Given the description of an element on the screen output the (x, y) to click on. 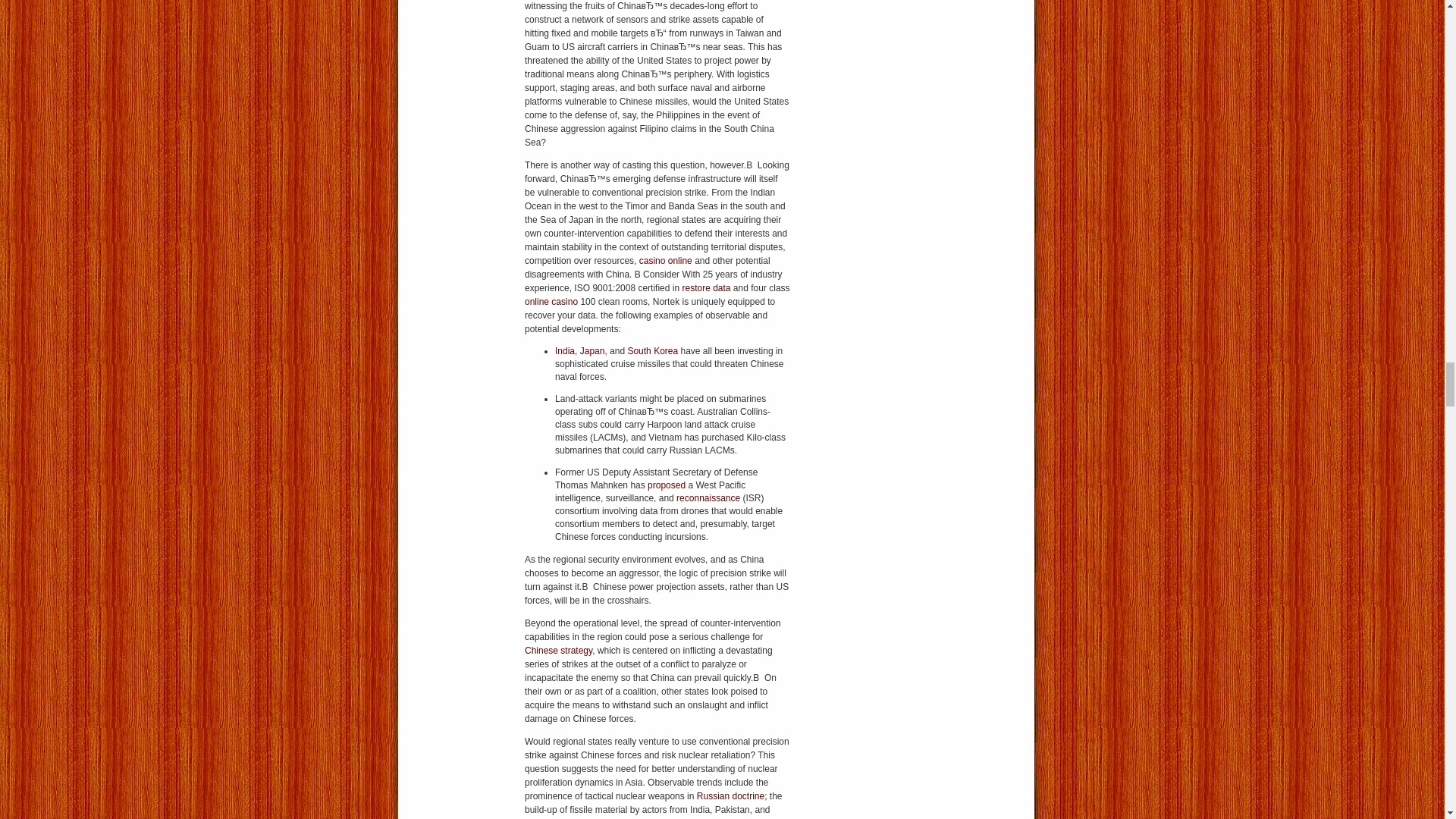
reconnaissance (708, 498)
proposed (666, 484)
casino online (666, 260)
Russian doctrine (730, 796)
India (564, 350)
online casino (551, 301)
restore data (705, 287)
Chinese strategy (558, 650)
Japan (592, 350)
South Korea (652, 350)
